Given the description of an element on the screen output the (x, y) to click on. 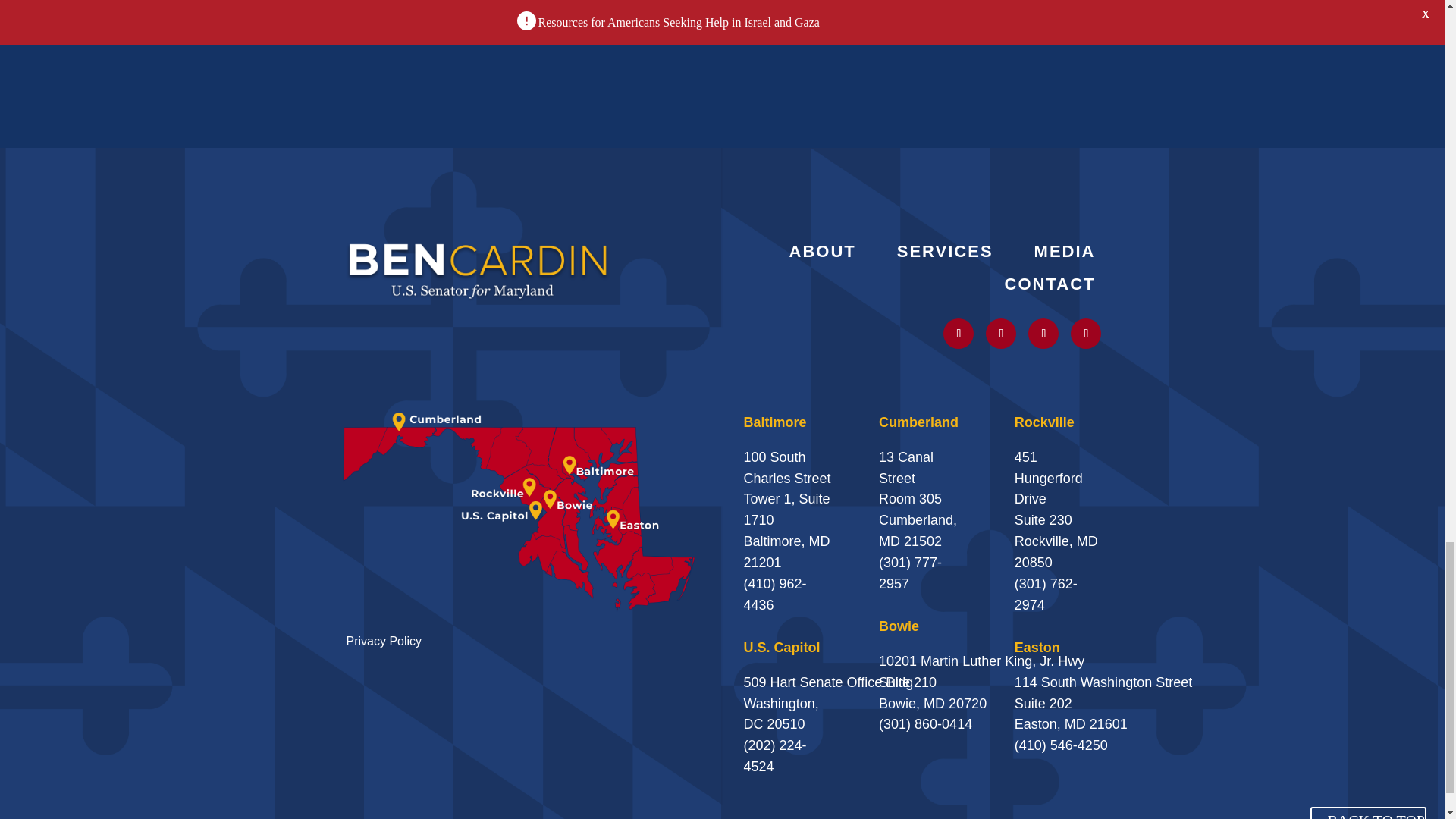
Footer (478, 269)
Privacy Policy (384, 640)
Follow on X (958, 333)
Follow on Instagram (1000, 333)
Follow on Facebook (1085, 333)
Follow on Youtube (1042, 333)
